Given the description of an element on the screen output the (x, y) to click on. 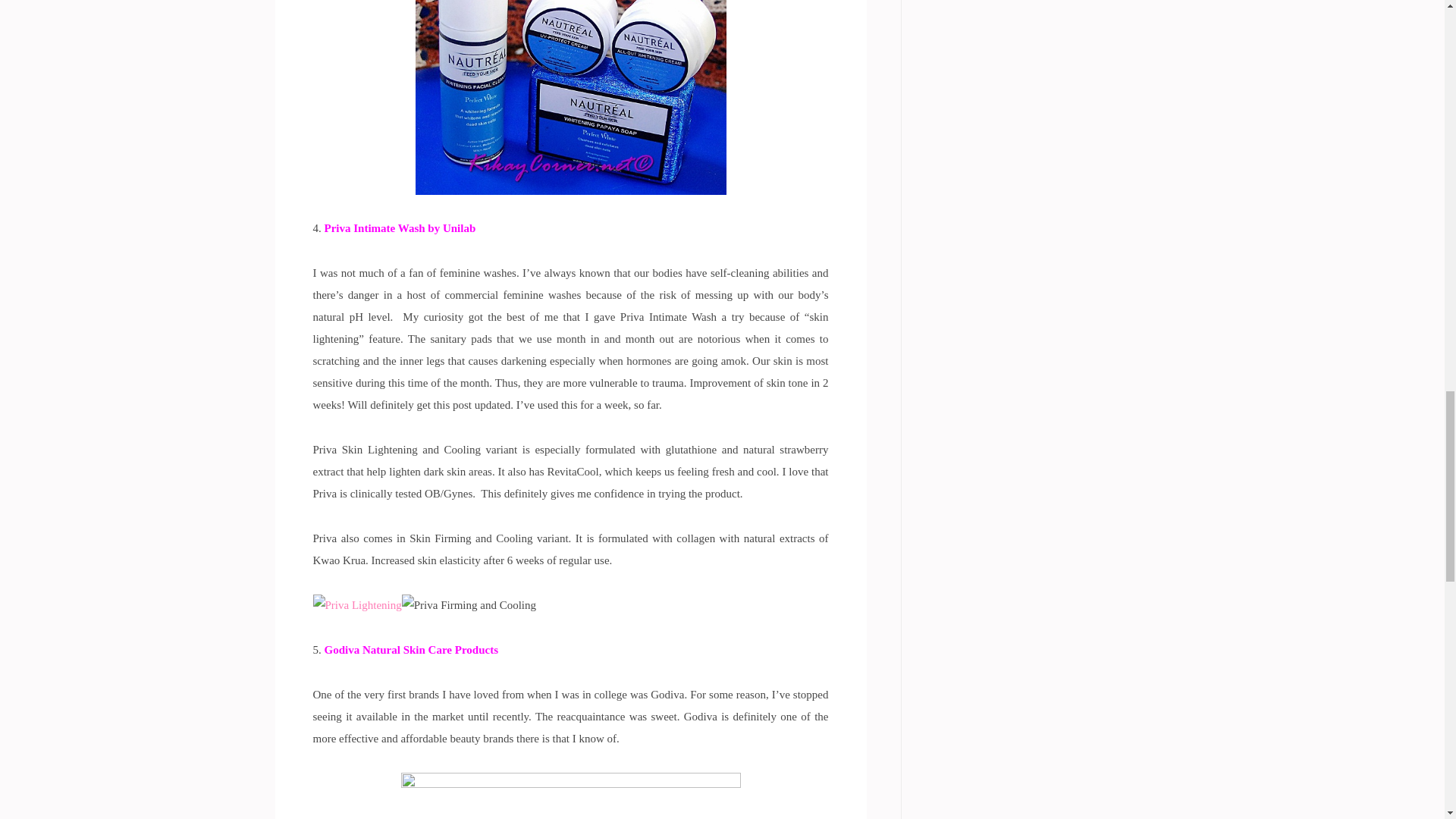
Priva Intimate Wash by Unilab (400, 227)
Godiva Natural Skin Care Products (410, 649)
